Given the description of an element on the screen output the (x, y) to click on. 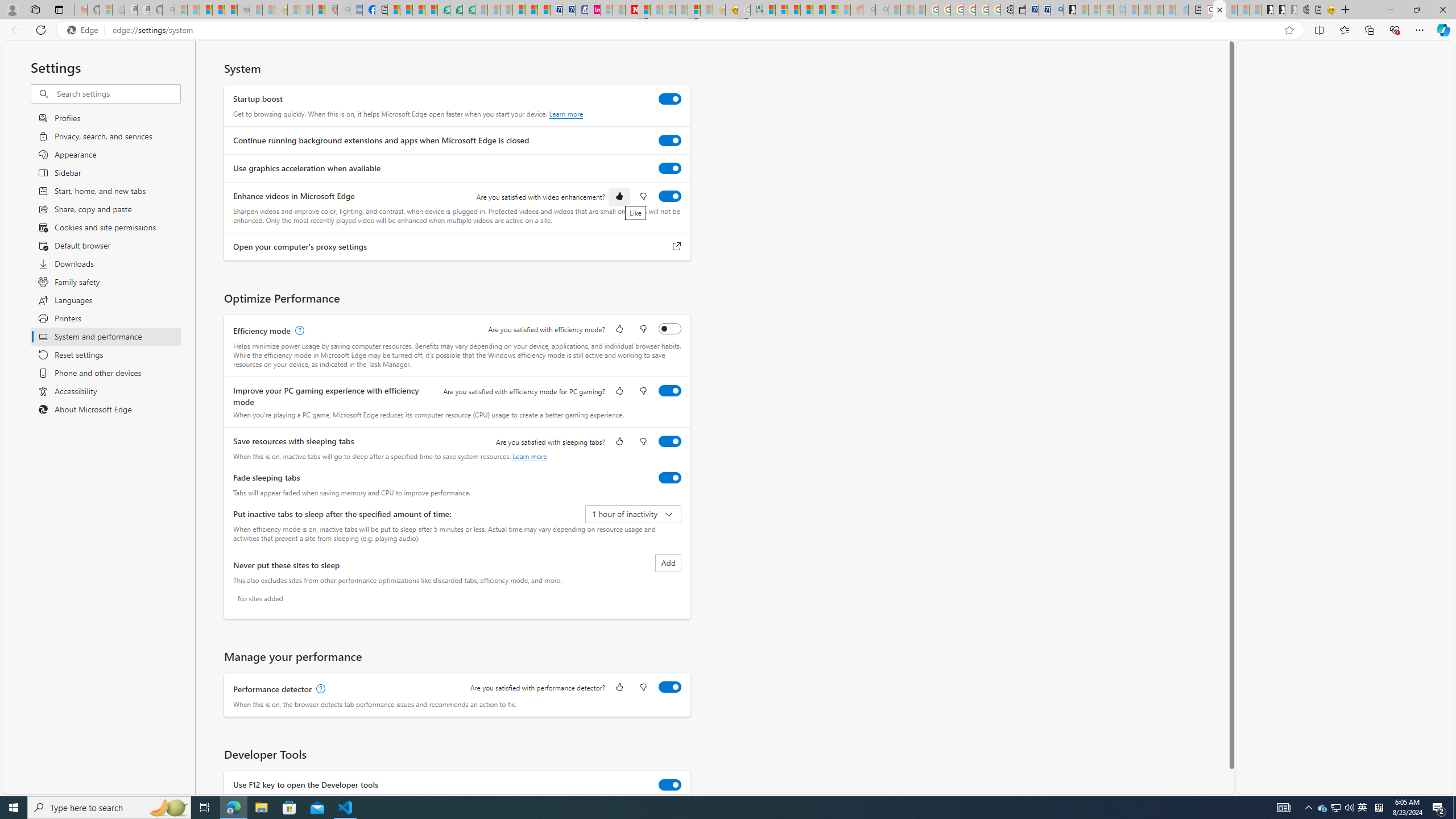
Add site to never put these sites to sleep list (668, 562)
Use graphics acceleration when available (669, 167)
LendingTree - Compare Lenders (443, 9)
Terms of Use Agreement (456, 9)
